Given the description of an element on the screen output the (x, y) to click on. 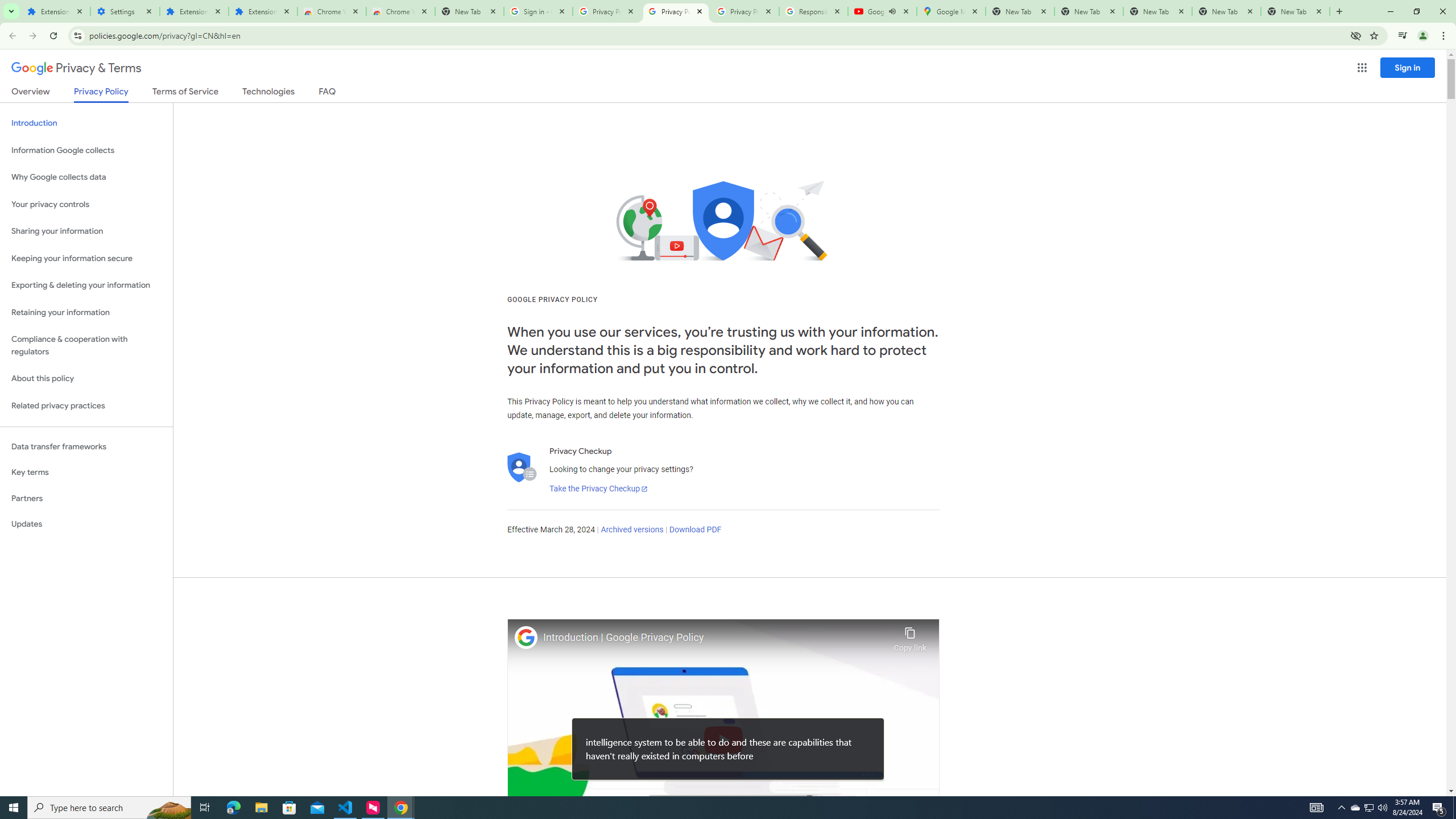
Sign in - Google Accounts (538, 11)
Archived versions (631, 529)
Key terms (86, 472)
Why Google collects data (86, 176)
Introduction | Google Privacy Policy (715, 637)
FAQ (327, 93)
About this policy (86, 379)
Information Google collects (86, 150)
Introduction (86, 122)
Exporting & deleting your information (86, 284)
